Given the description of an element on the screen output the (x, y) to click on. 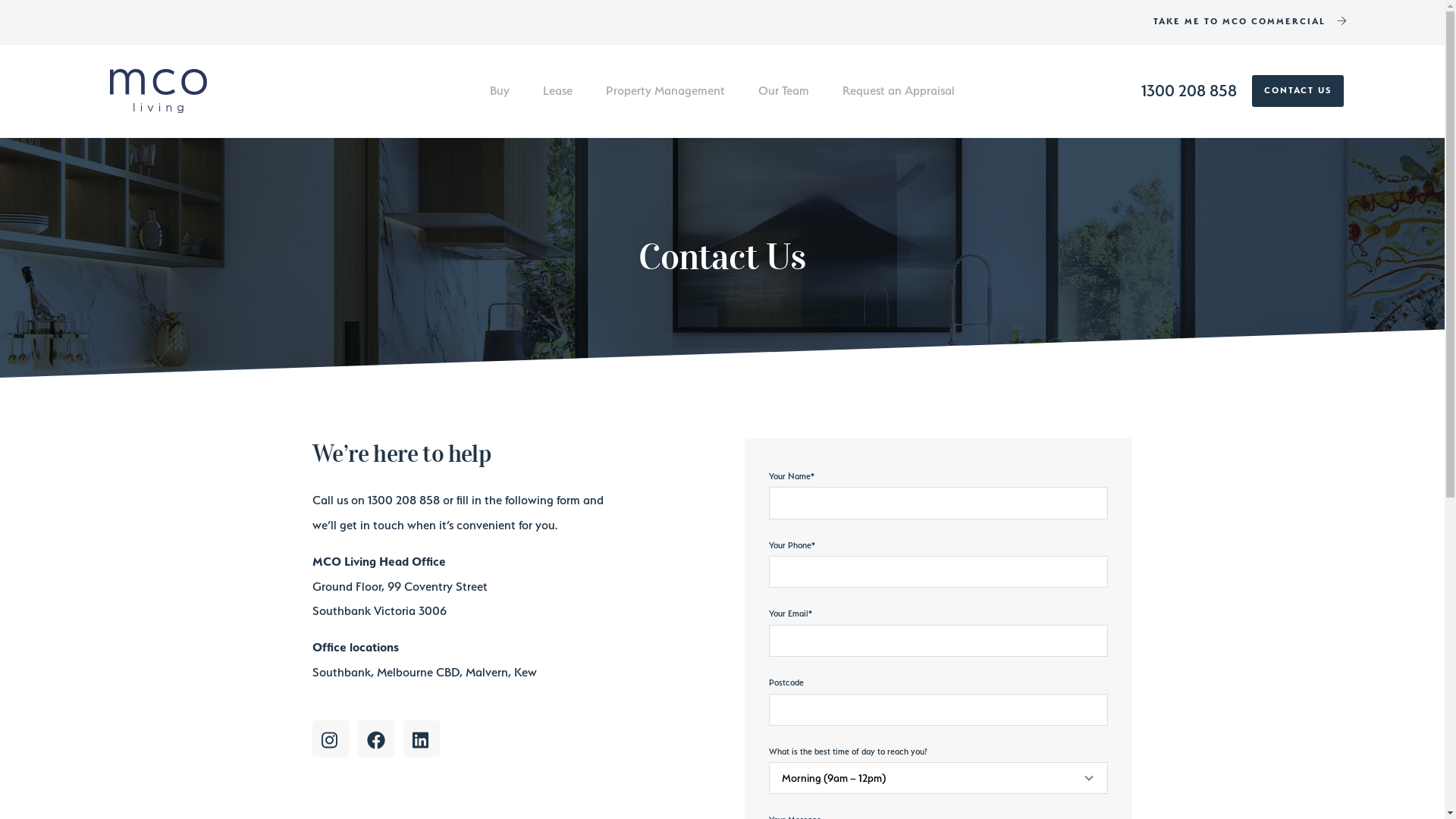
Property Management Element type: text (665, 90)
1300 208 858 Element type: text (1188, 89)
Our Team Element type: text (783, 90)
Request an Appraisal Element type: text (898, 90)
Lease Element type: text (557, 90)
CONTACT US Element type: text (1297, 90)
TAKE ME TO MCO COMMERCIAL Element type: text (1250, 21)
Buy Element type: text (499, 90)
